Given the description of an element on the screen output the (x, y) to click on. 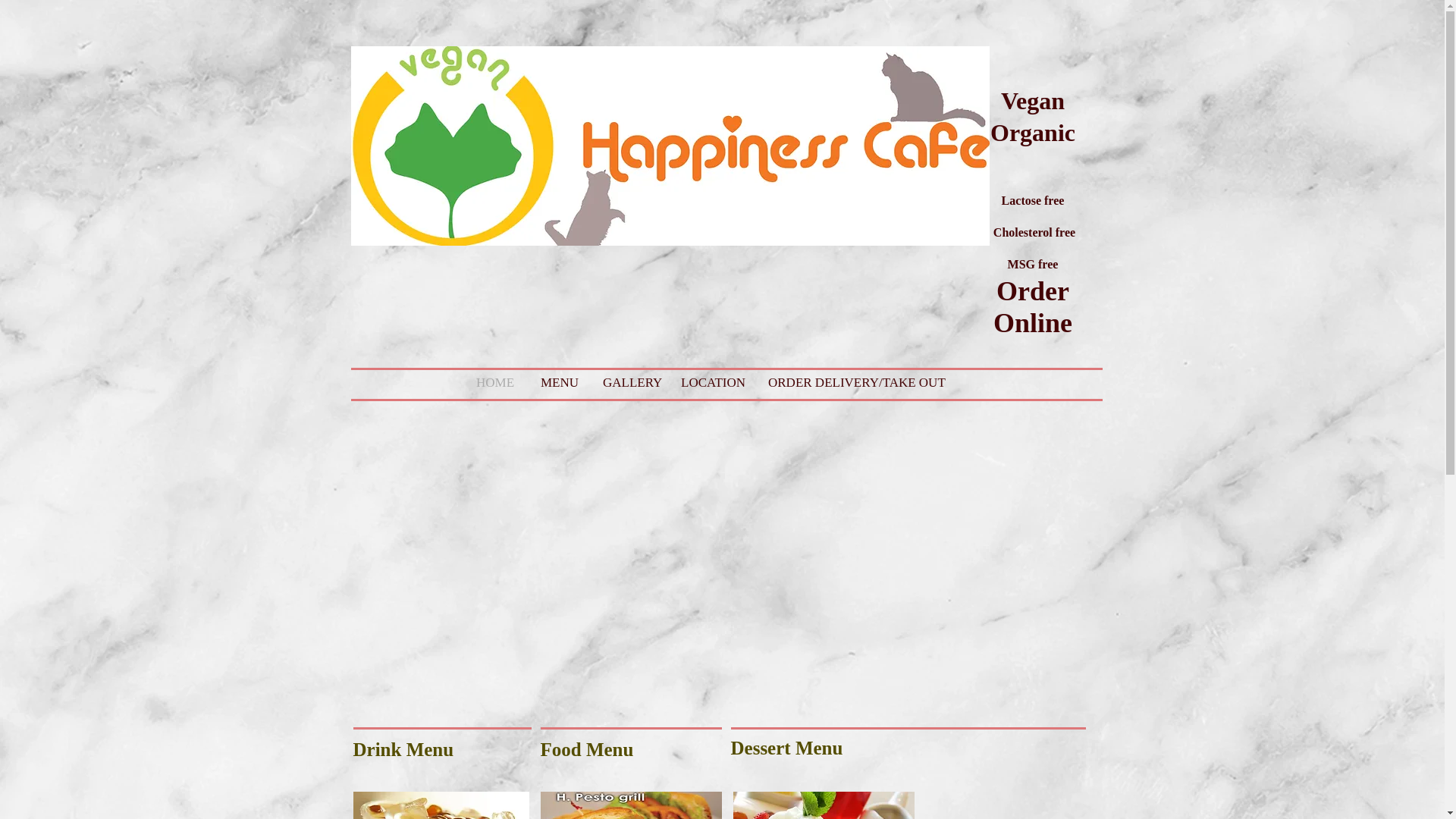
Pesto grill.jpg (630, 805)
MENU (556, 382)
GALLERY (626, 382)
LOCATION (708, 382)
HOME (493, 382)
Logo w cat.jpg (669, 145)
